Given the description of an element on the screen output the (x, y) to click on. 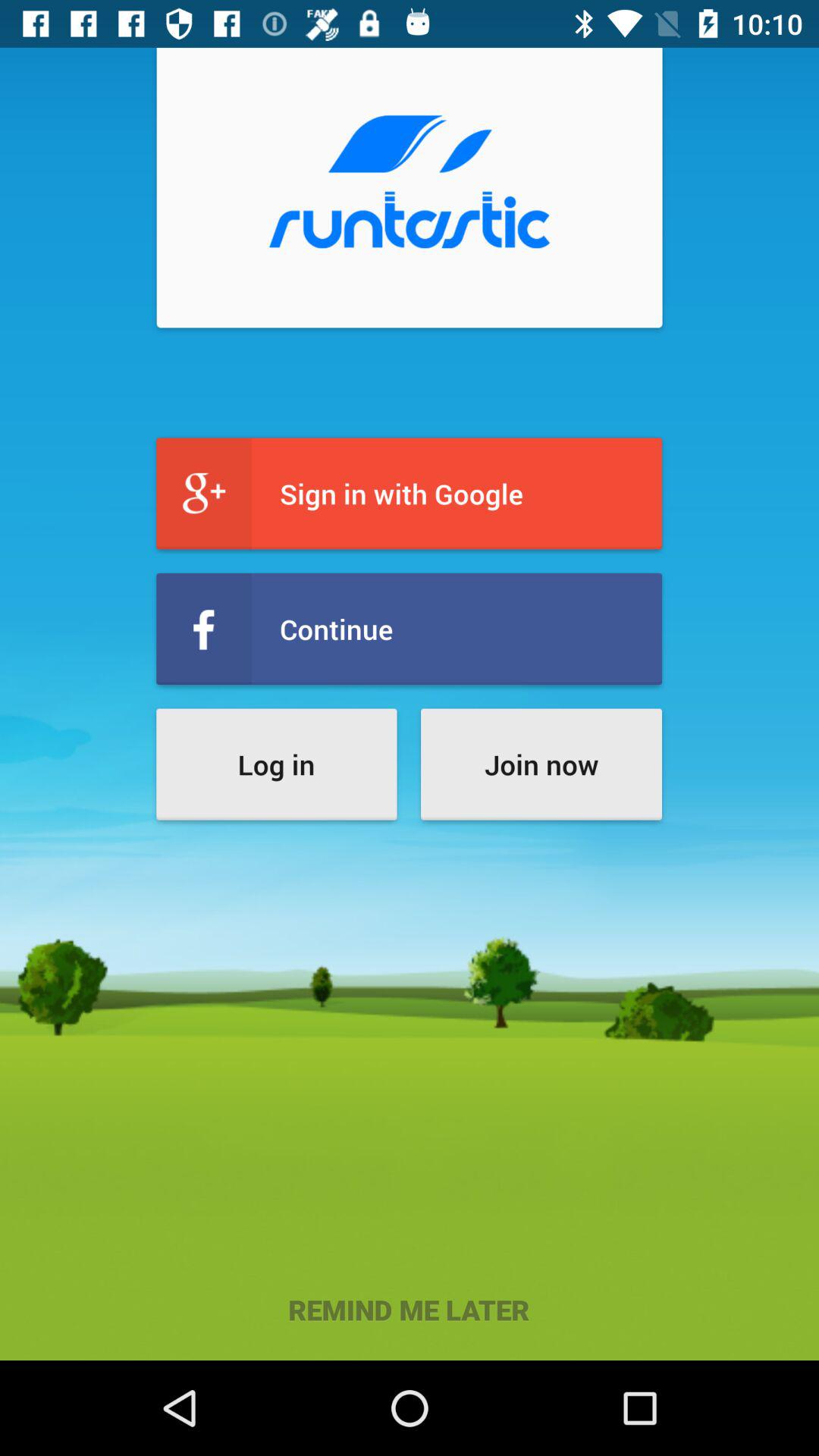
scroll until the continue item (409, 628)
